Given the description of an element on the screen output the (x, y) to click on. 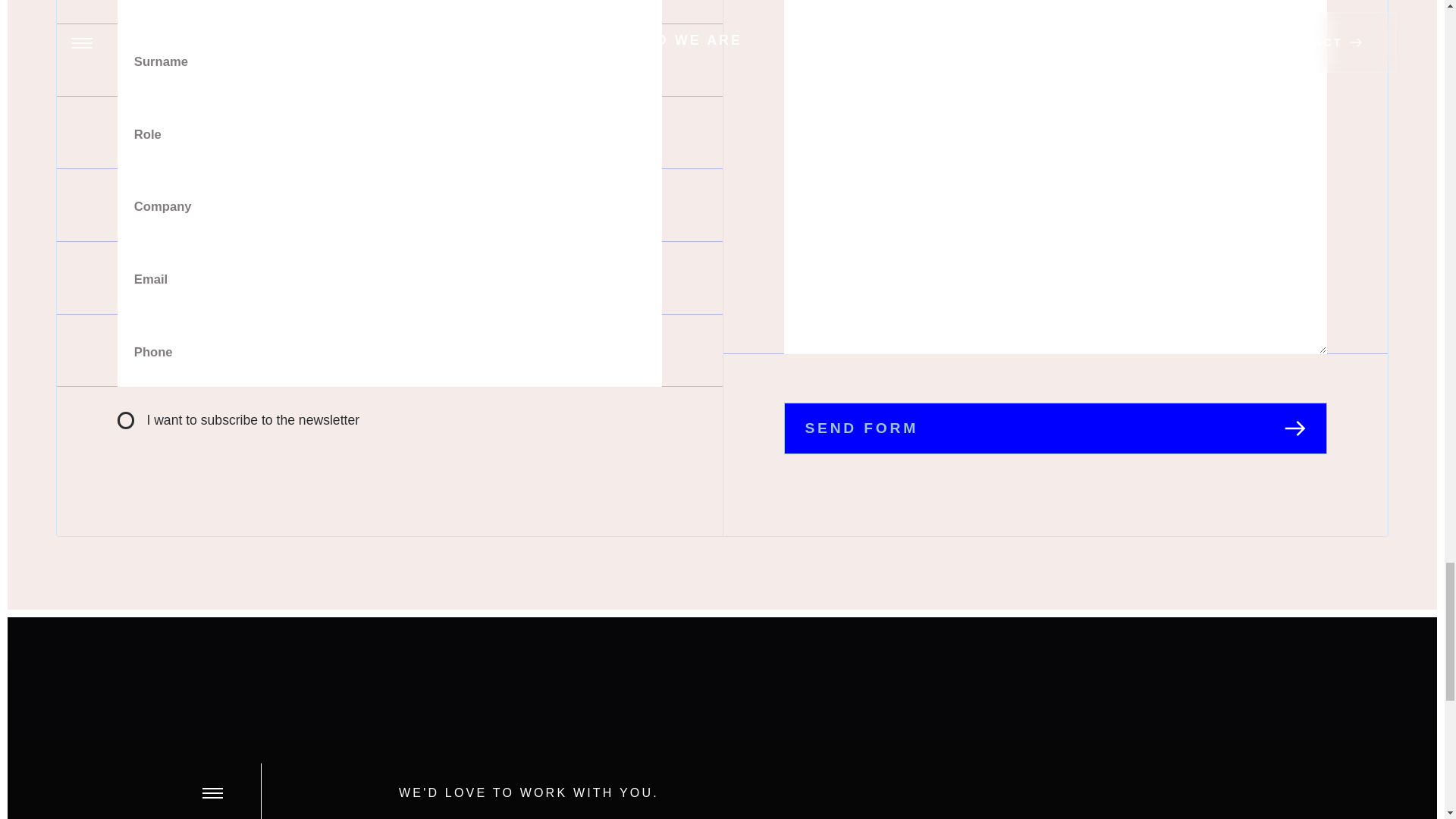
Send form (1055, 428)
Send form (1055, 428)
